Given the description of an element on the screen output the (x, y) to click on. 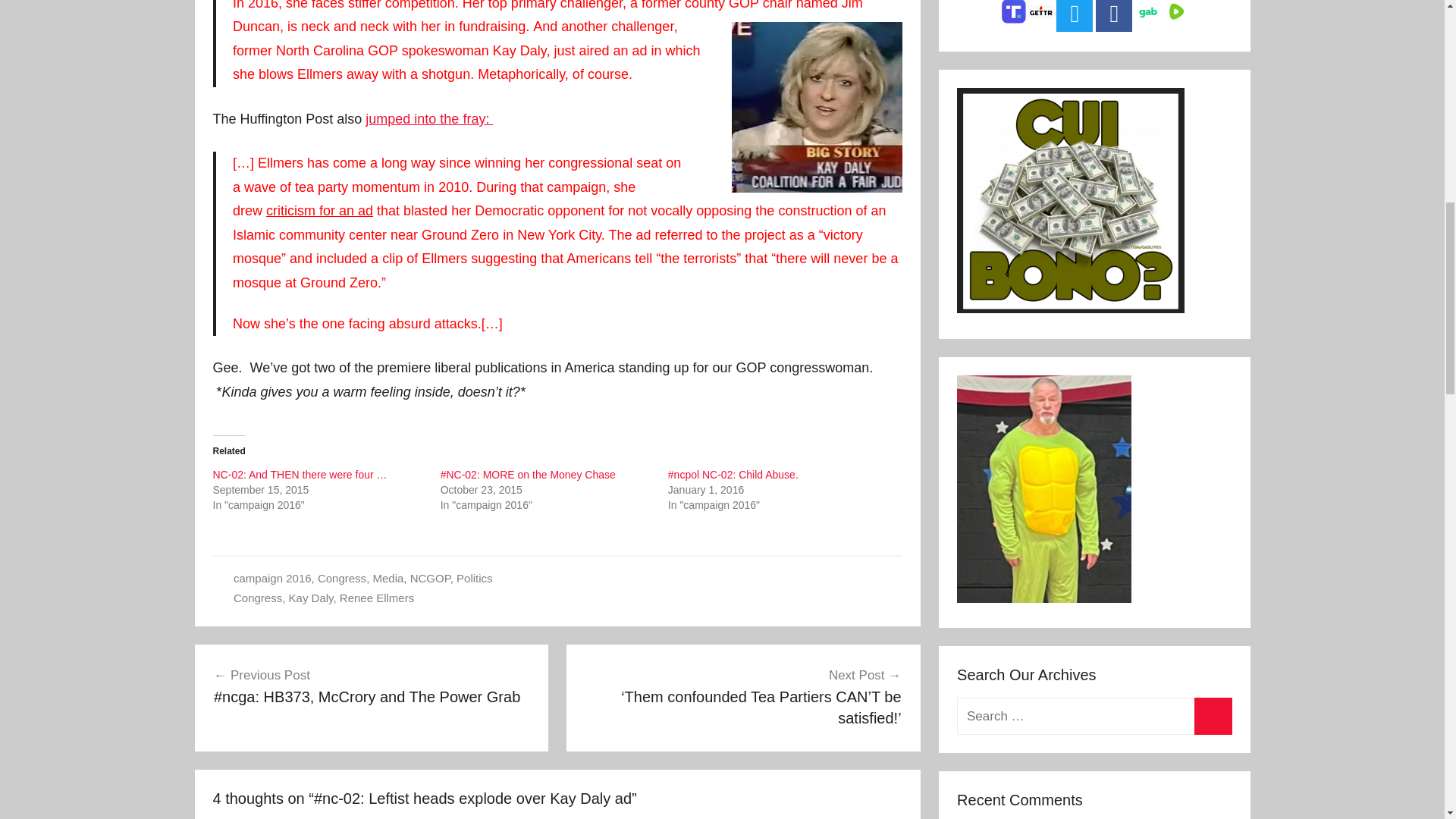
gettr (1040, 15)
Renee Ellmers (376, 597)
twitter (1074, 13)
twitter (1075, 15)
truthsocial (1013, 20)
fb (1114, 15)
gettr (1040, 11)
Congress (341, 577)
Politics (475, 577)
Congress (257, 597)
NCGOP (429, 577)
truthsocial (1013, 11)
jumped into the fray:  (429, 118)
criticism for an ad (319, 210)
campaign 2016 (271, 577)
